Given the description of an element on the screen output the (x, y) to click on. 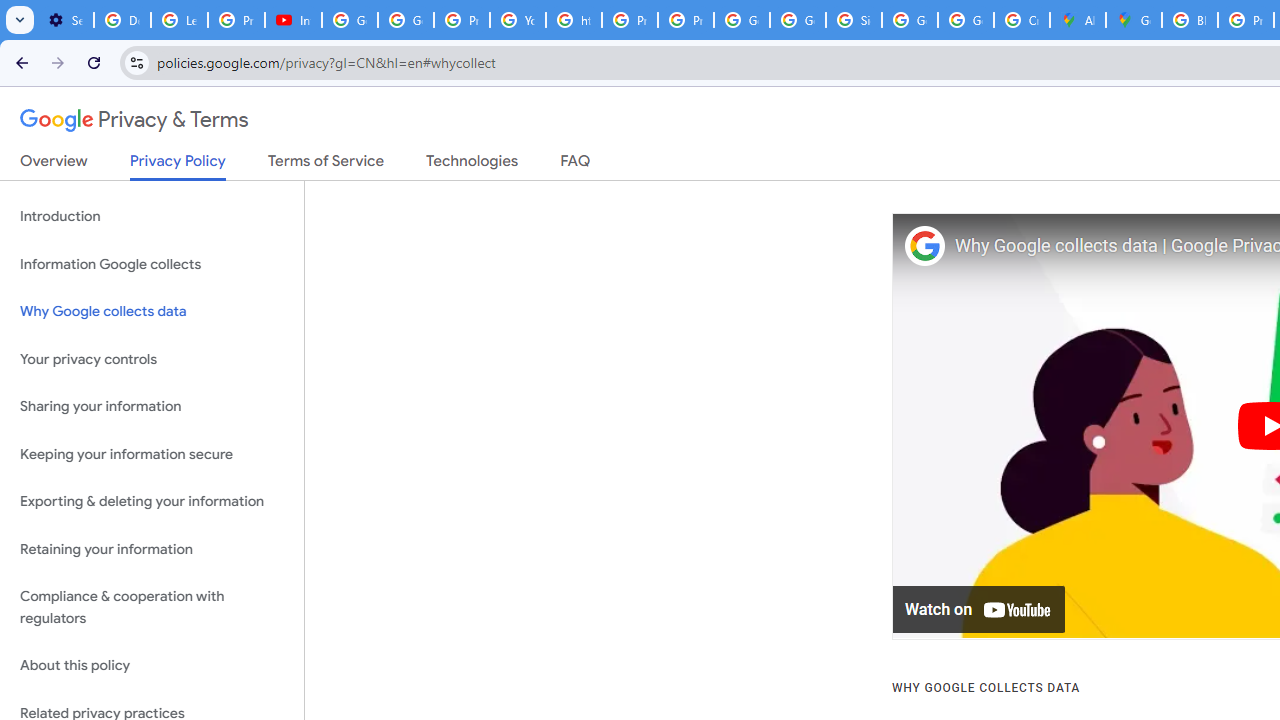
Your privacy controls (152, 358)
